Given the description of an element on the screen output the (x, y) to click on. 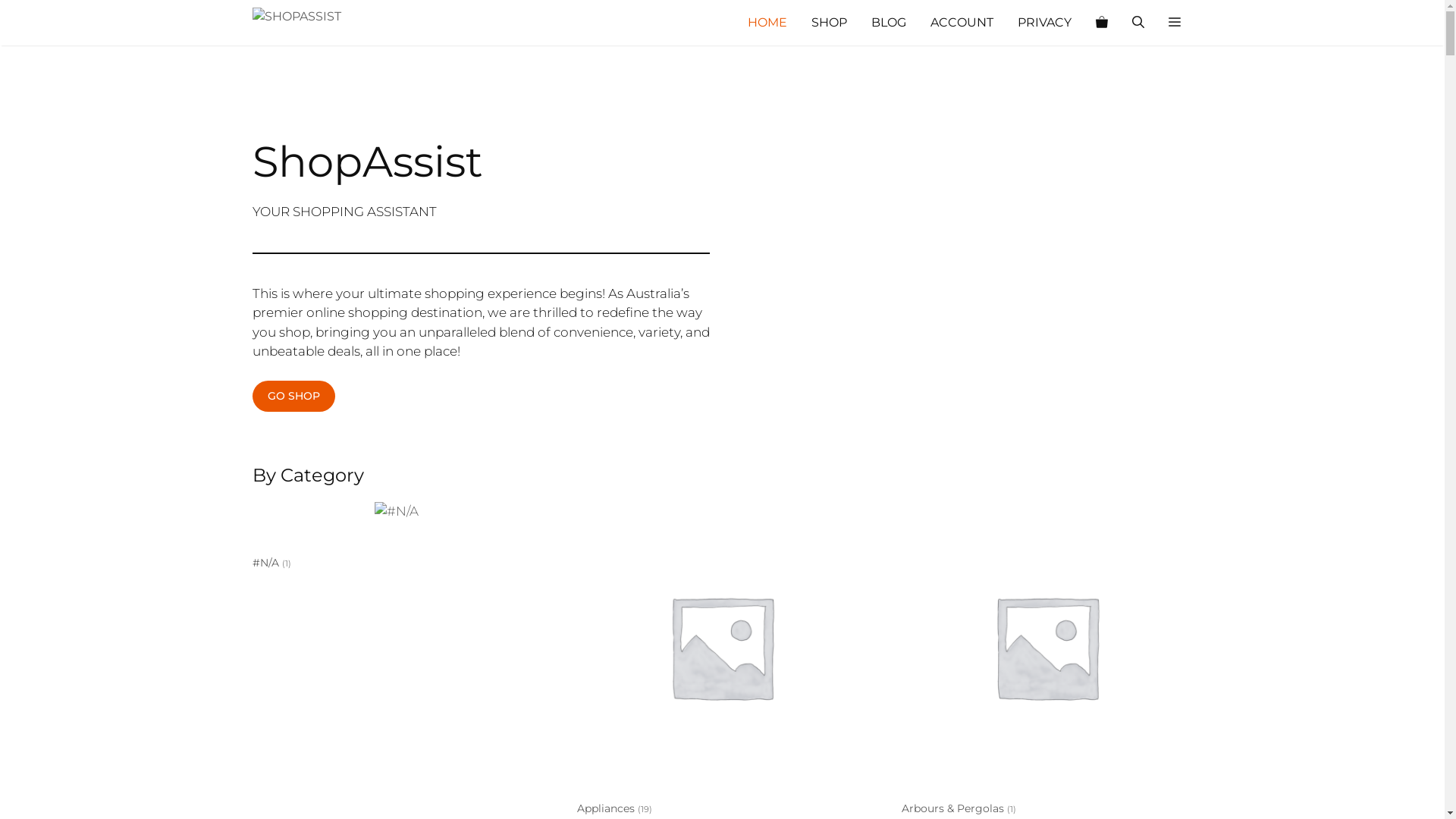
HOME Element type: text (767, 22)
SHOP Element type: text (829, 22)
ACCOUNT Element type: text (960, 22)
View your shopping cart Element type: hover (1100, 22)
ShopAssist Element type: hover (327, 22)
#N/A (1) Element type: text (395, 538)
BLOG Element type: text (887, 22)
PRIVACY Element type: text (1044, 22)
GO SHOP Element type: text (292, 395)
